Given the description of an element on the screen output the (x, y) to click on. 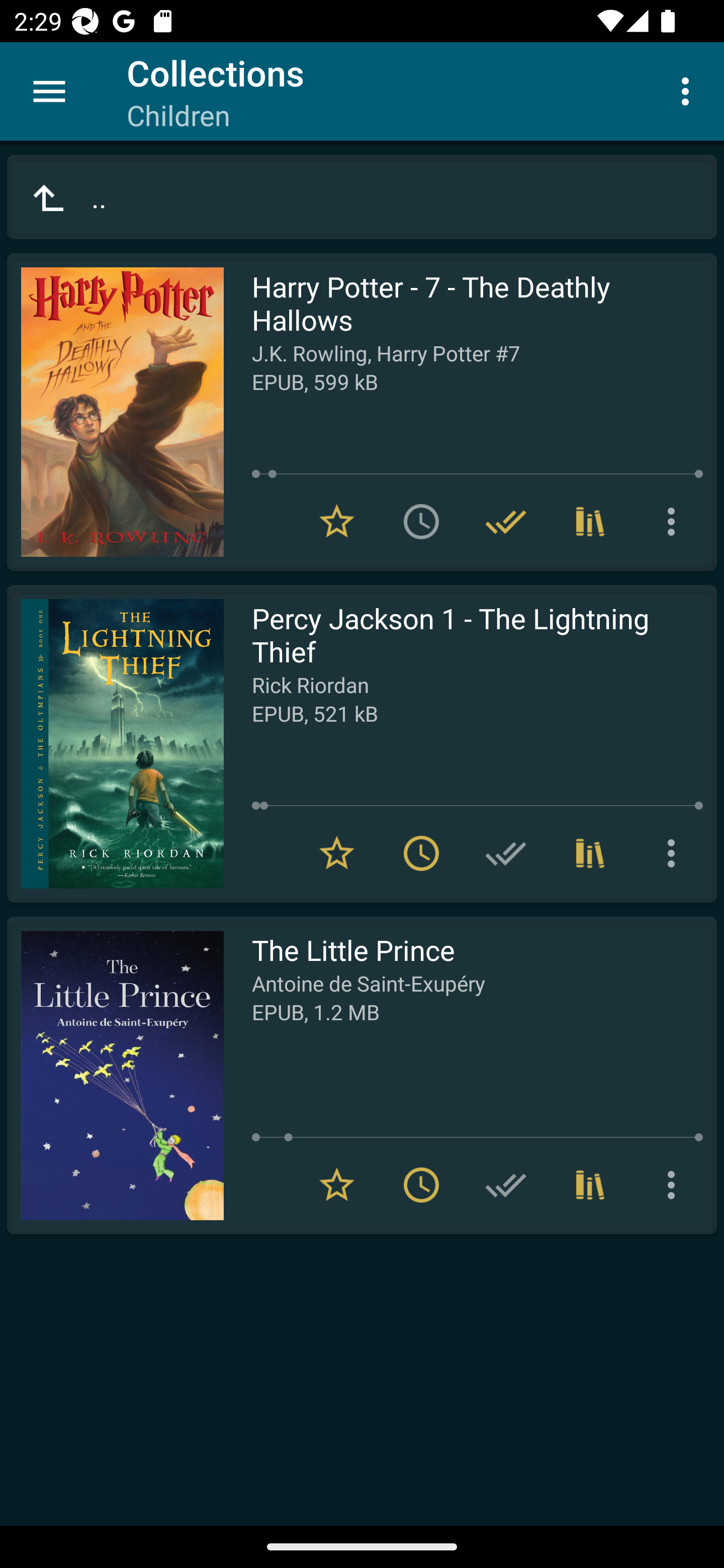
Menu (49, 91)
More options (688, 90)
.. (361, 197)
Read Harry Potter - 7 - The Deathly Hallows (115, 412)
Remove from Favorites (336, 521)
Add to To read (421, 521)
Remove from Have read (505, 521)
Collections (3) (590, 521)
More options (674, 521)
Read Percy Jackson 1 - The Lightning Thief (115, 743)
Remove from Favorites (336, 852)
Remove from To read (421, 852)
Add to Have read (505, 852)
Collections (1) (590, 852)
More options (674, 852)
Read The Little Prince (115, 1075)
Remove from Favorites (336, 1185)
Remove from To read (421, 1185)
Add to Have read (505, 1185)
Collections (1) (590, 1185)
More options (674, 1185)
